Given the description of an element on the screen output the (x, y) to click on. 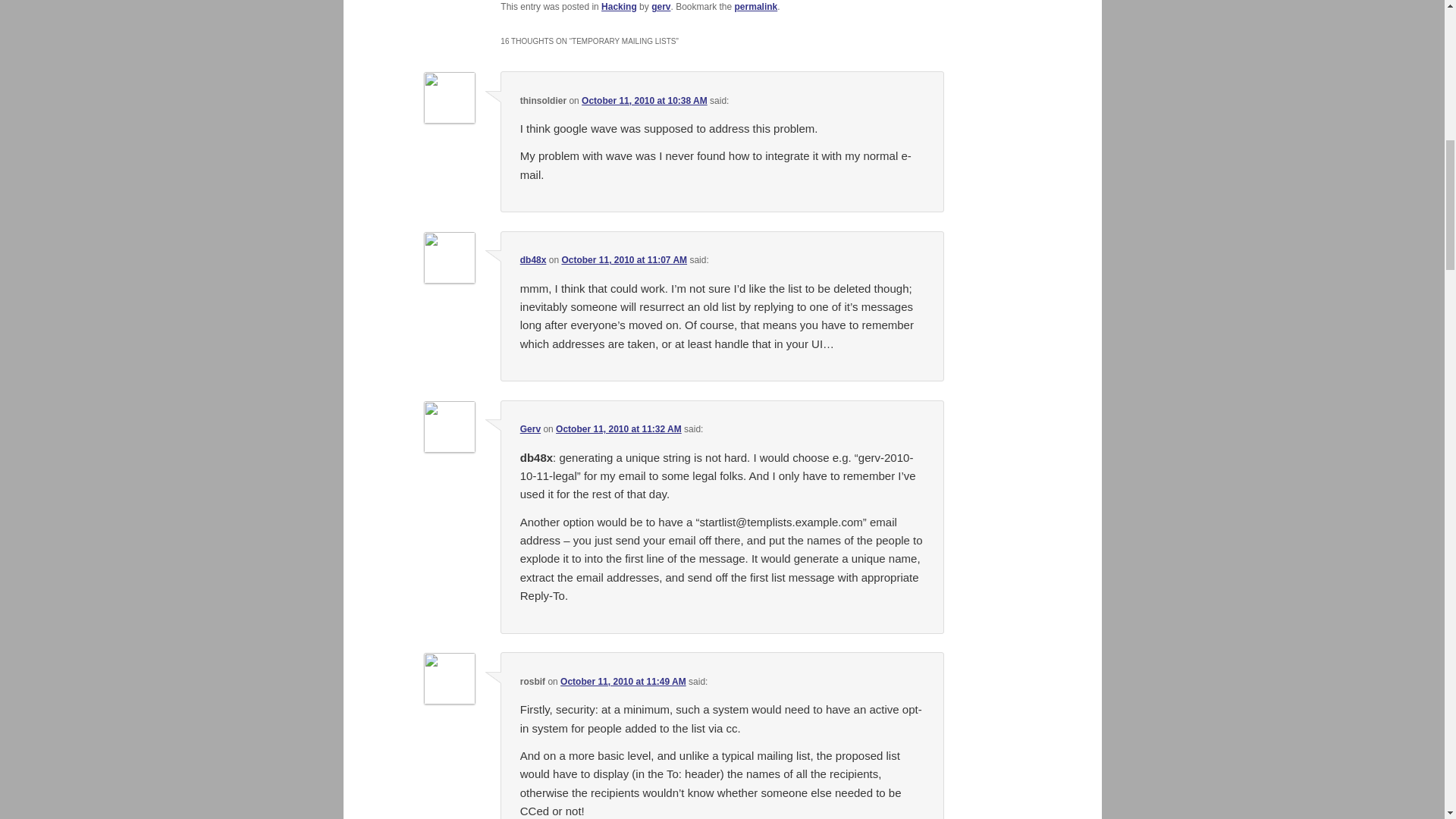
October 11, 2010 at 11:32 AM (618, 429)
October 11, 2010 at 10:38 AM (643, 100)
db48x (533, 259)
Hacking (619, 6)
Gerv (529, 429)
Permalink to Temporary Mailing Lists (756, 6)
permalink (756, 6)
October 11, 2010 at 11:07 AM (623, 259)
October 11, 2010 at 11:49 AM (622, 681)
gerv (659, 6)
